Given the description of an element on the screen output the (x, y) to click on. 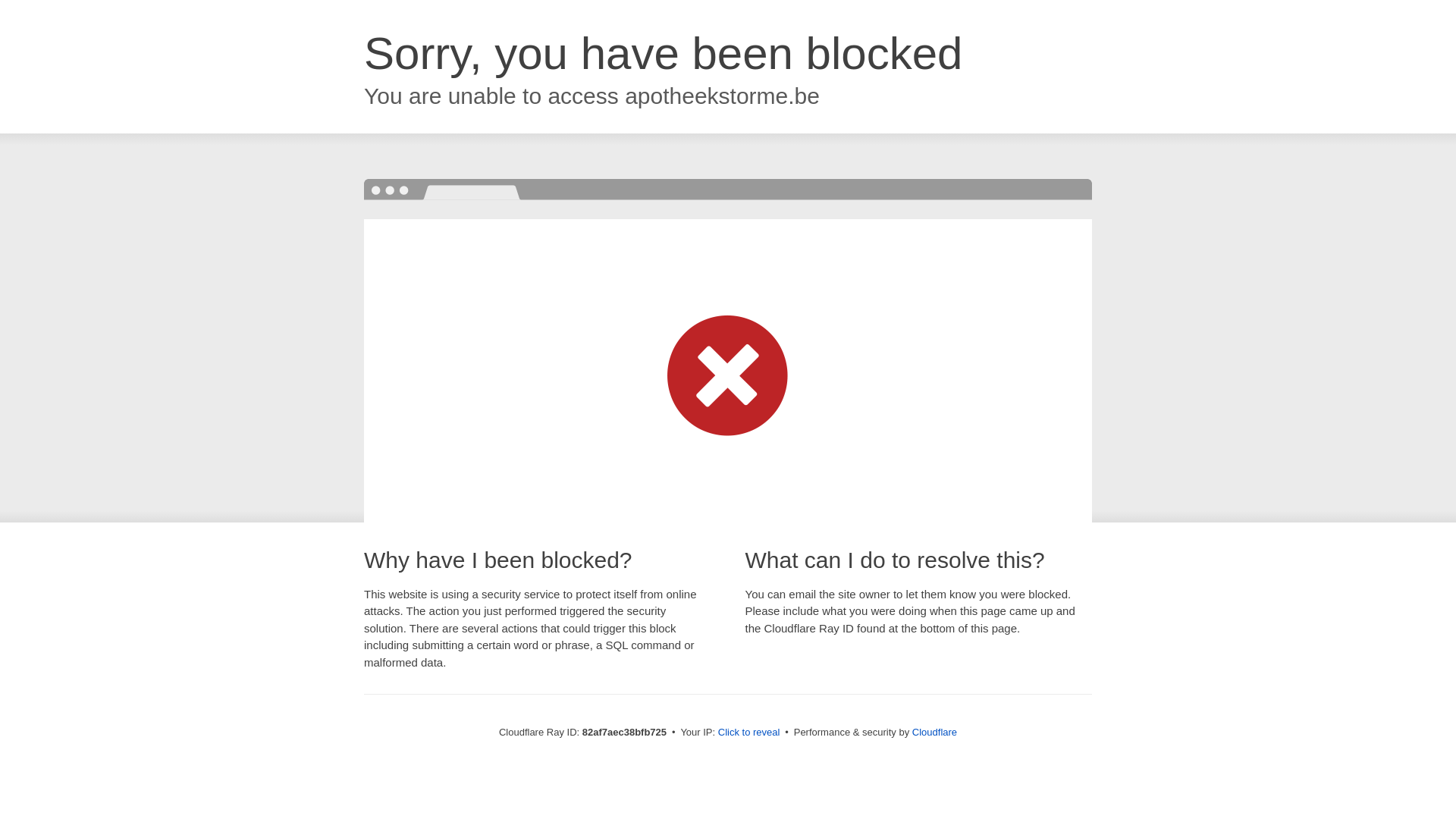
Click to reveal Element type: text (749, 732)
Cloudflare Element type: text (934, 731)
